Given the description of an element on the screen output the (x, y) to click on. 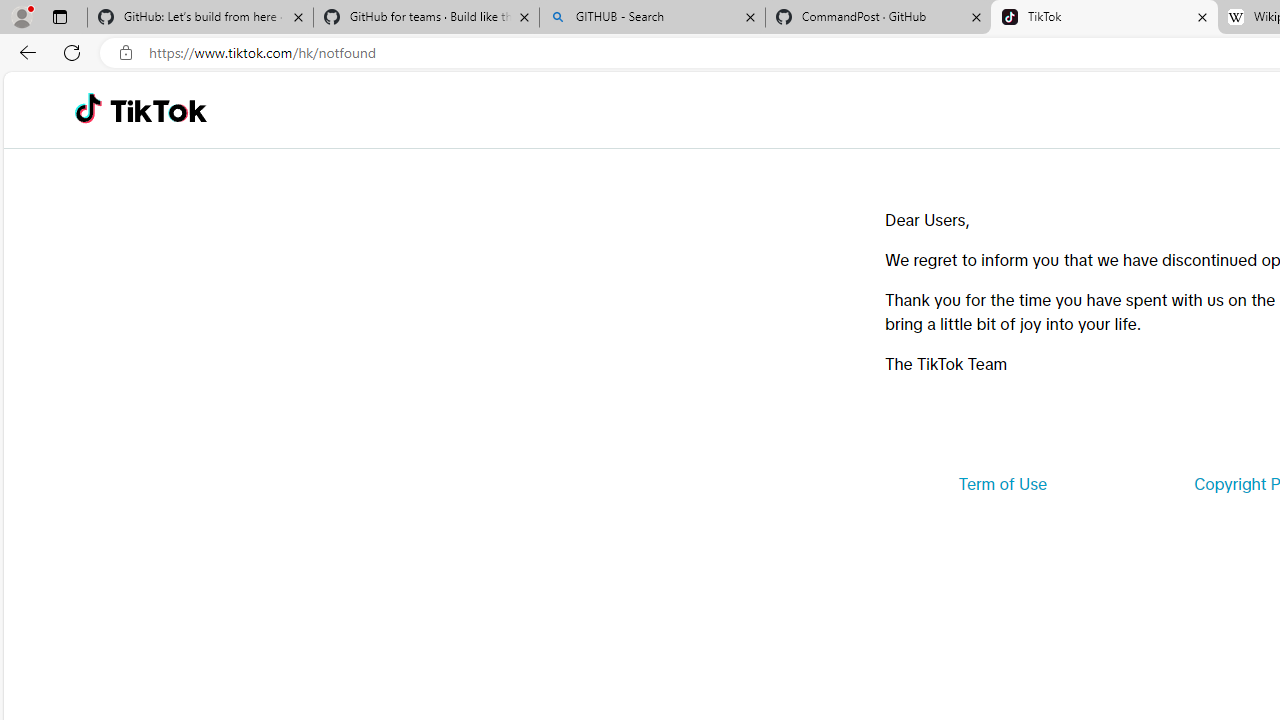
Back (24, 52)
TikTok (1104, 17)
Refresh (72, 52)
Tab actions menu (59, 16)
View site information (125, 53)
Term of Use (1002, 484)
GITHUB - Search (652, 17)
TikTok (158, 110)
